Given the description of an element on the screen output the (x, y) to click on. 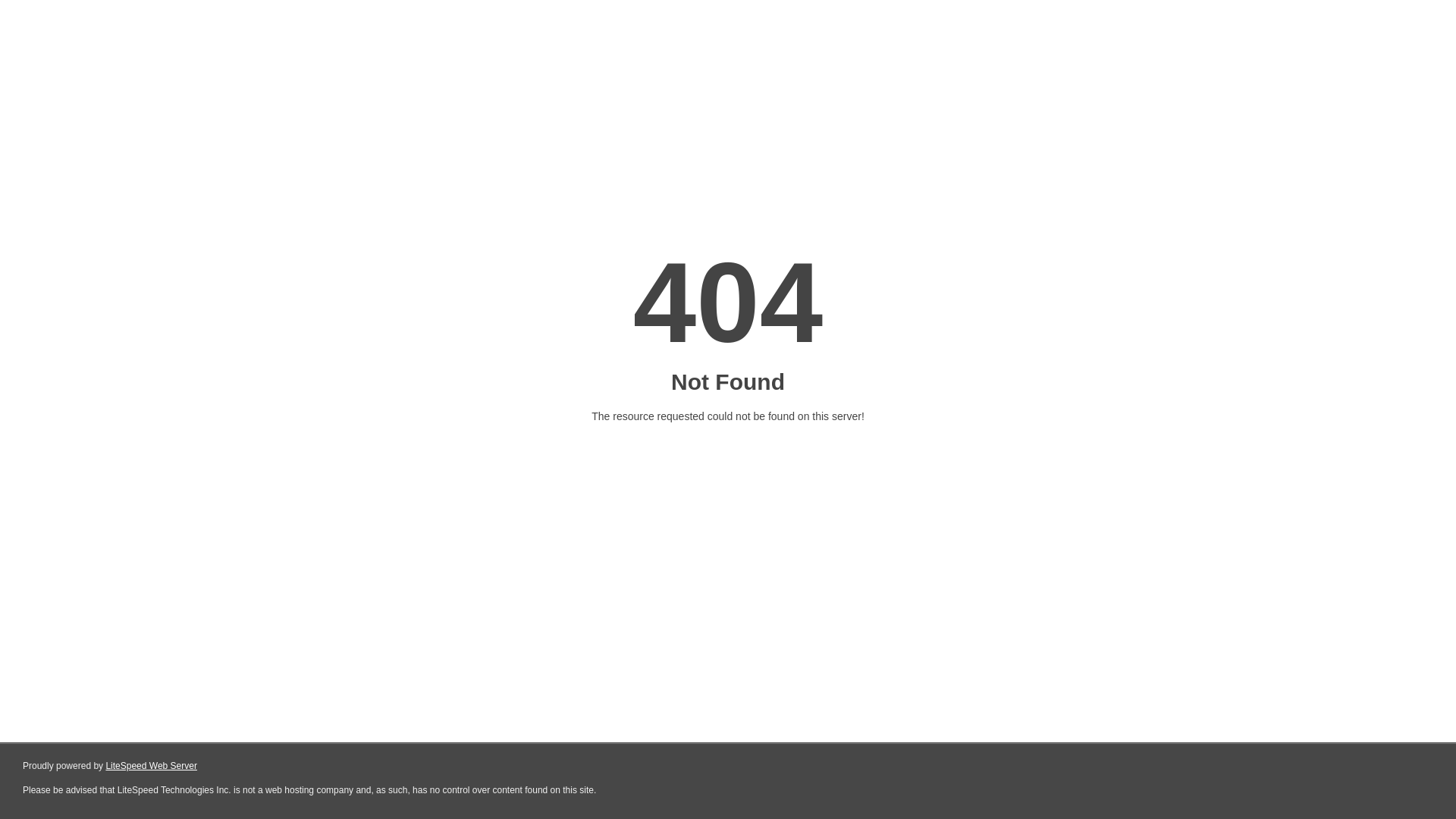
LiteSpeed Web Server Element type: text (151, 765)
